Given the description of an element on the screen output the (x, y) to click on. 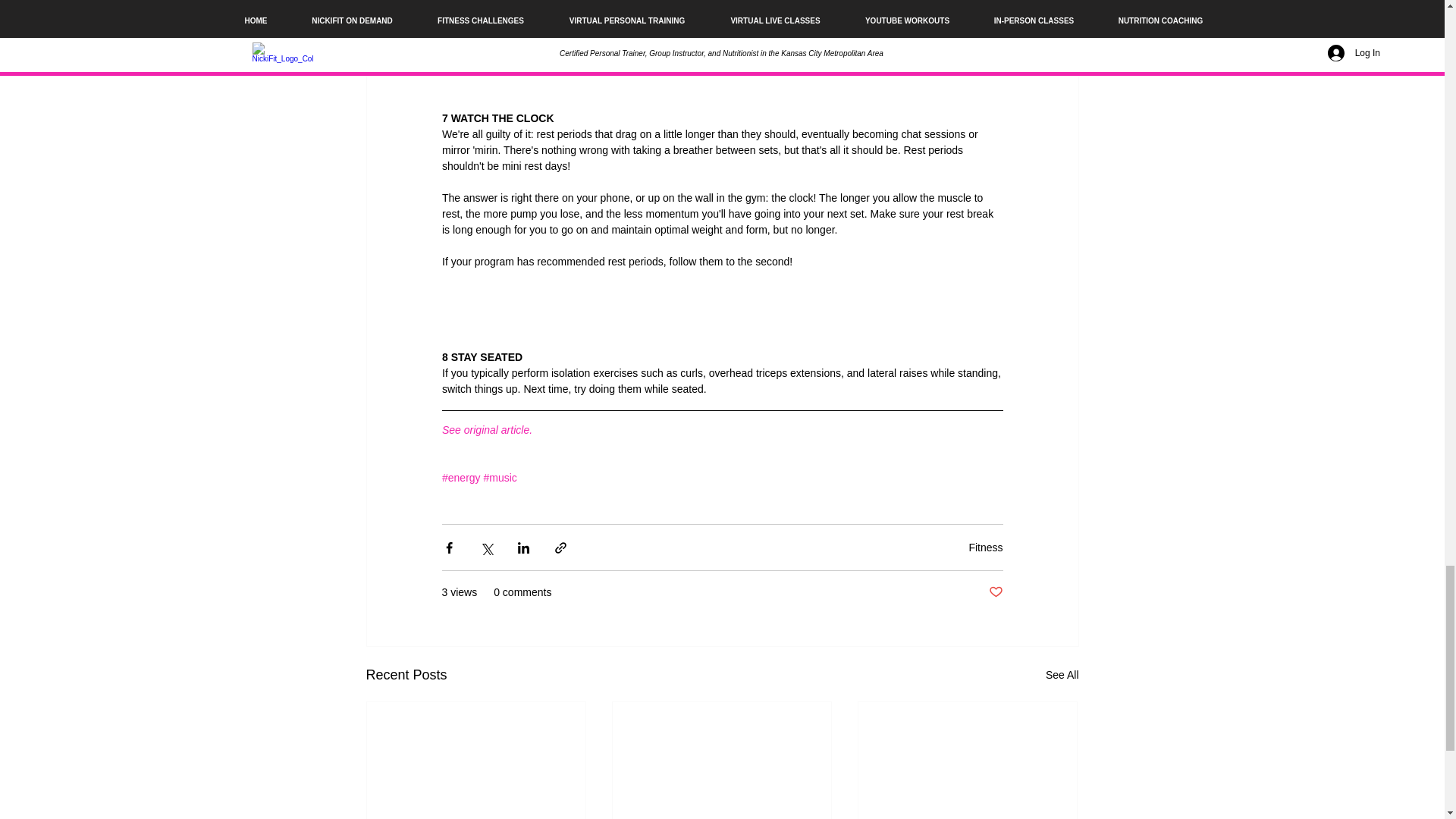
See All (1061, 675)
Post not marked as liked (995, 592)
Fitness (985, 547)
See original article. (486, 429)
